Given the description of an element on the screen output the (x, y) to click on. 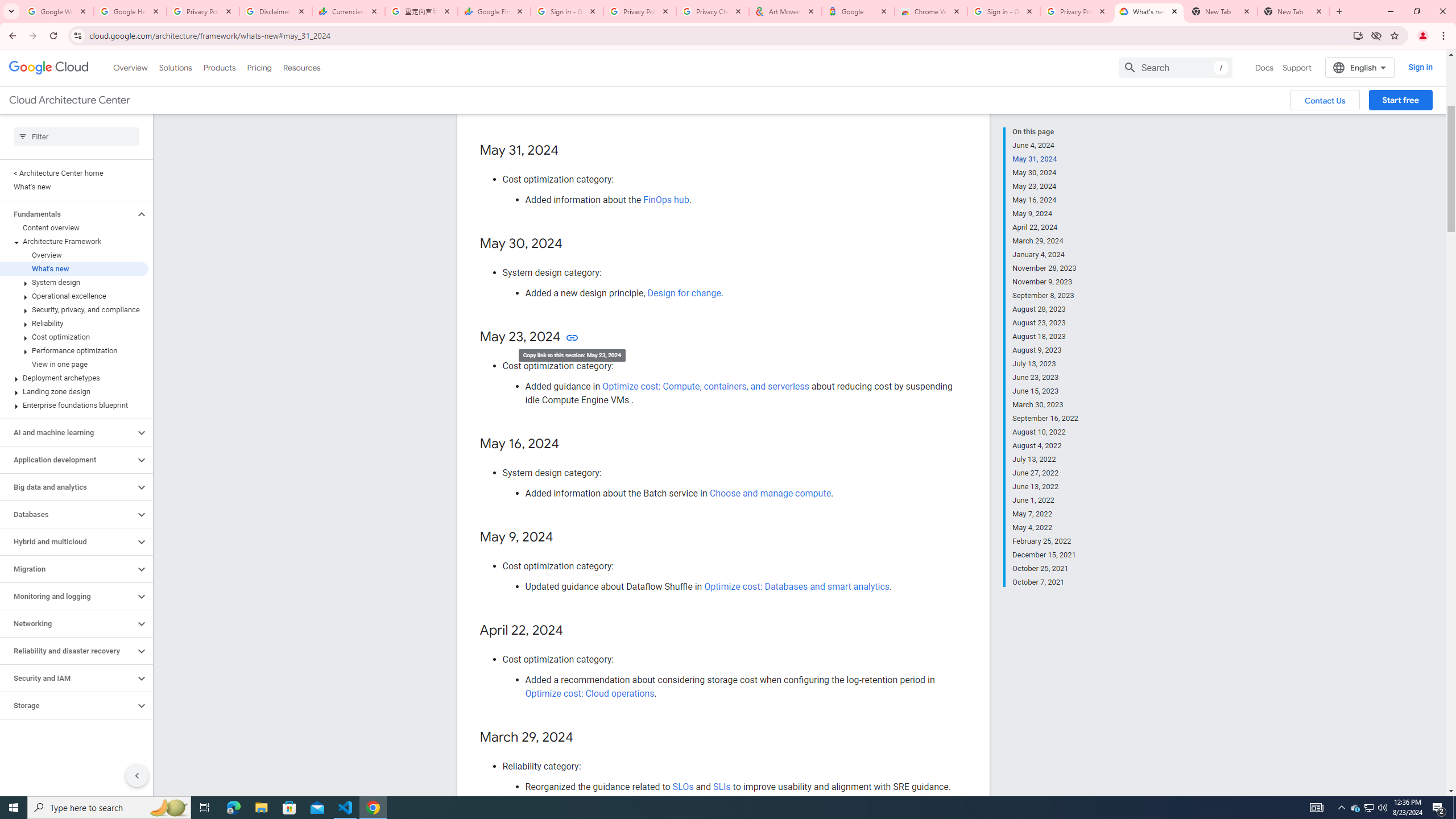
August 4, 2022 (1044, 445)
December 15, 2021 (1044, 554)
Sign in - Google Accounts (566, 11)
Products (218, 67)
March 29, 2024 (1044, 241)
SLOs (683, 786)
Cloud Architecture Center (68, 100)
Copy link to this section: March 29, 2024 (583, 737)
May 9, 2024 (1044, 213)
View in one page (74, 364)
Contact Us (1324, 100)
Monitoring and logging (67, 596)
Google Workspace Admin Community (57, 11)
Copy link to this section: May 31, 2024 (570, 151)
